Given the description of an element on the screen output the (x, y) to click on. 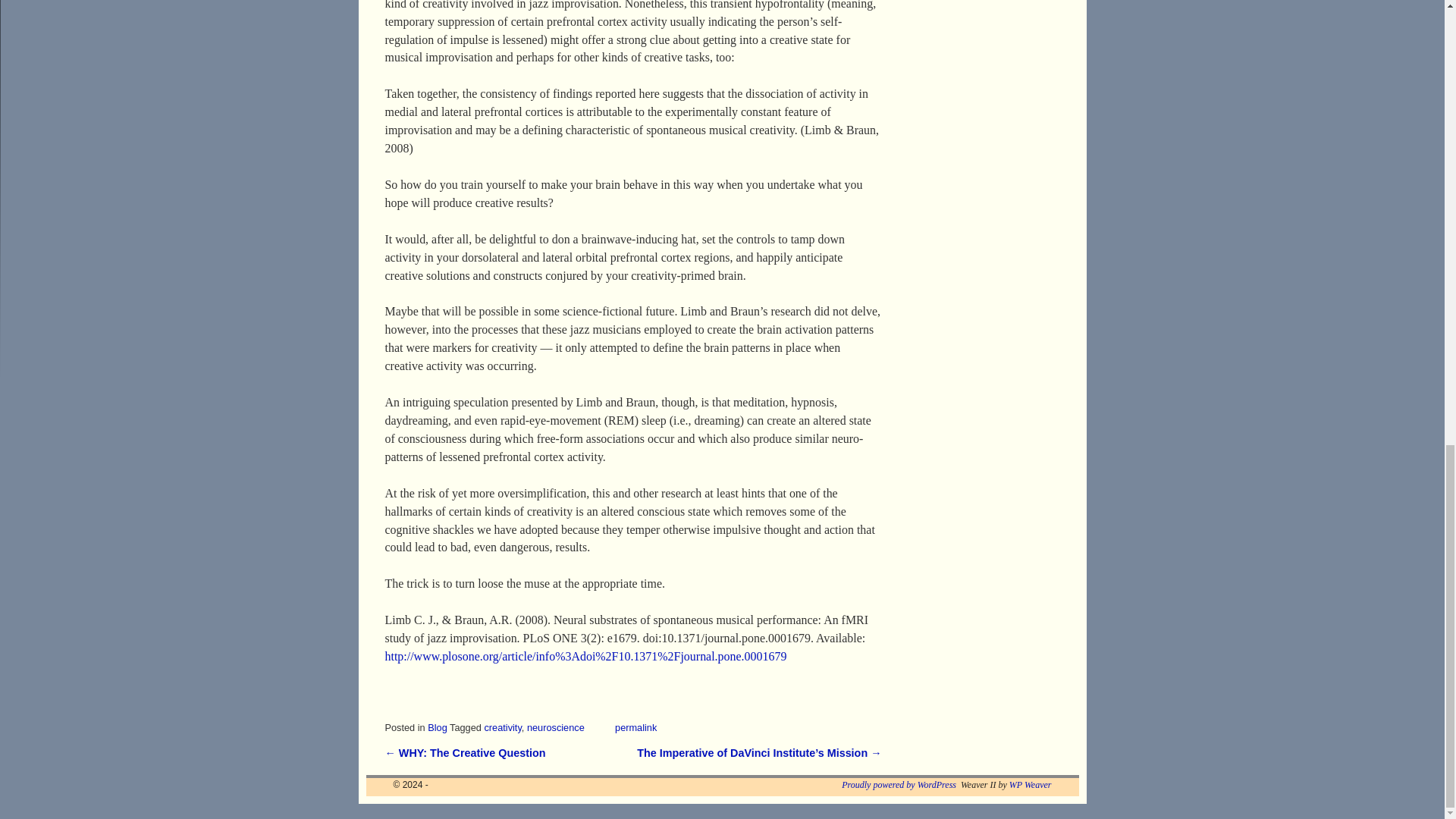
wordpress.org (898, 784)
neuroscience (556, 727)
creativity (502, 727)
Blog (437, 727)
